Given the description of an element on the screen output the (x, y) to click on. 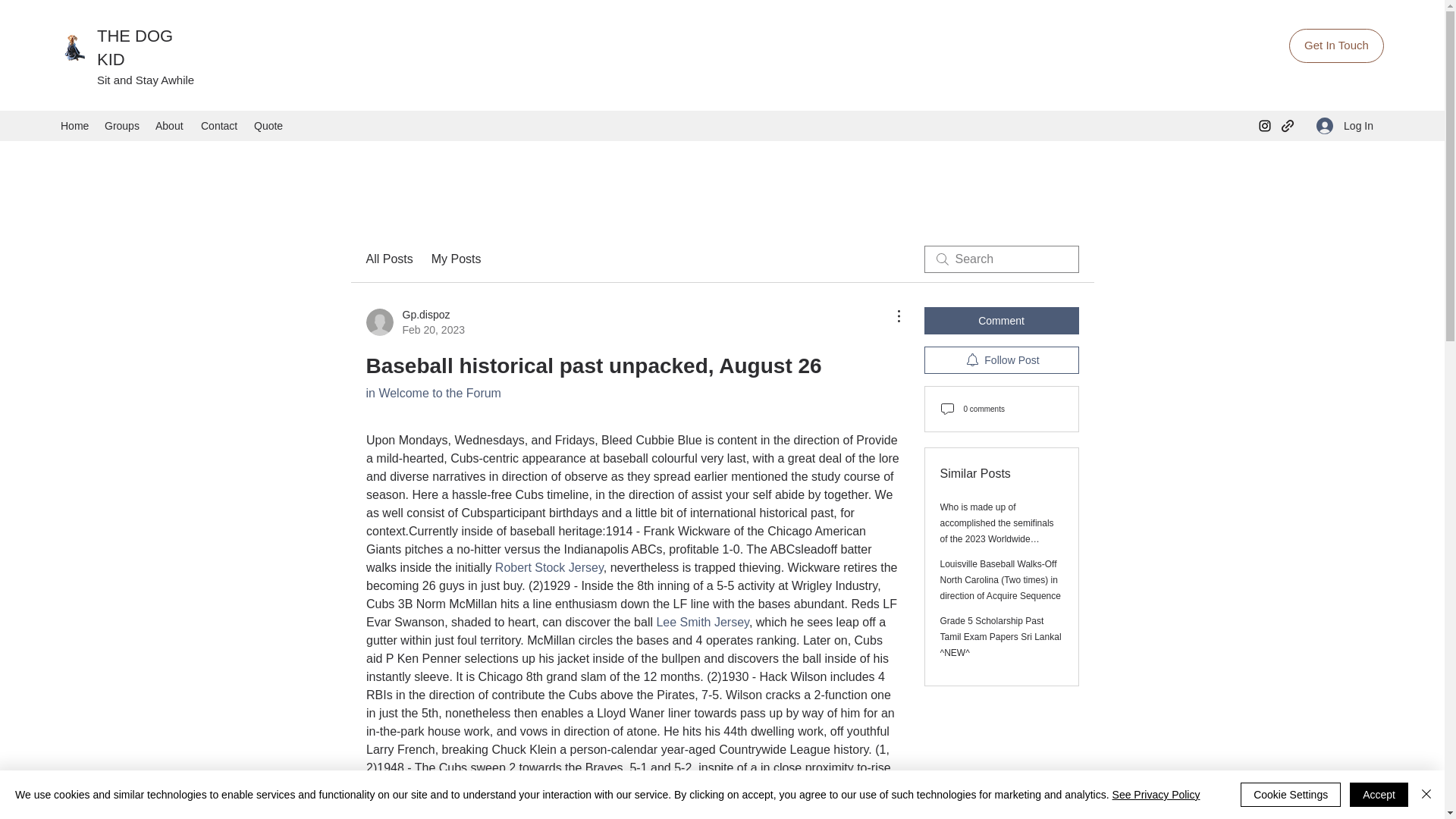
Robert Stock Jersey (548, 567)
Cookie Settings (1290, 794)
Get In Touch (1336, 45)
See Privacy Policy (1155, 794)
Log In (1345, 126)
Follow Post (1000, 359)
Comment (1000, 320)
About (170, 125)
All Posts (388, 259)
